Given the description of an element on the screen output the (x, y) to click on. 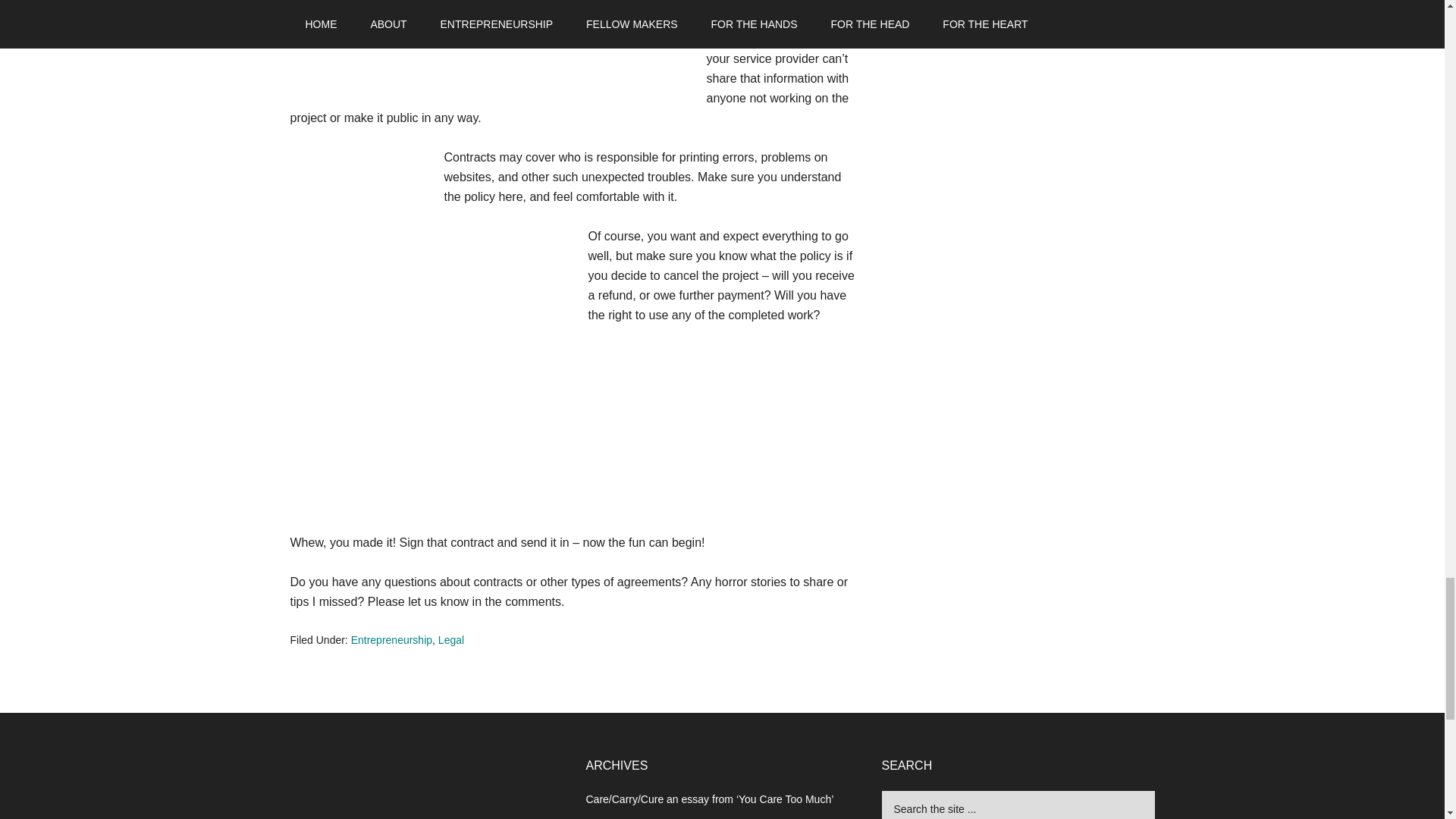
Legal (451, 639)
Entrepreneurship (391, 639)
